Given the description of an element on the screen output the (x, y) to click on. 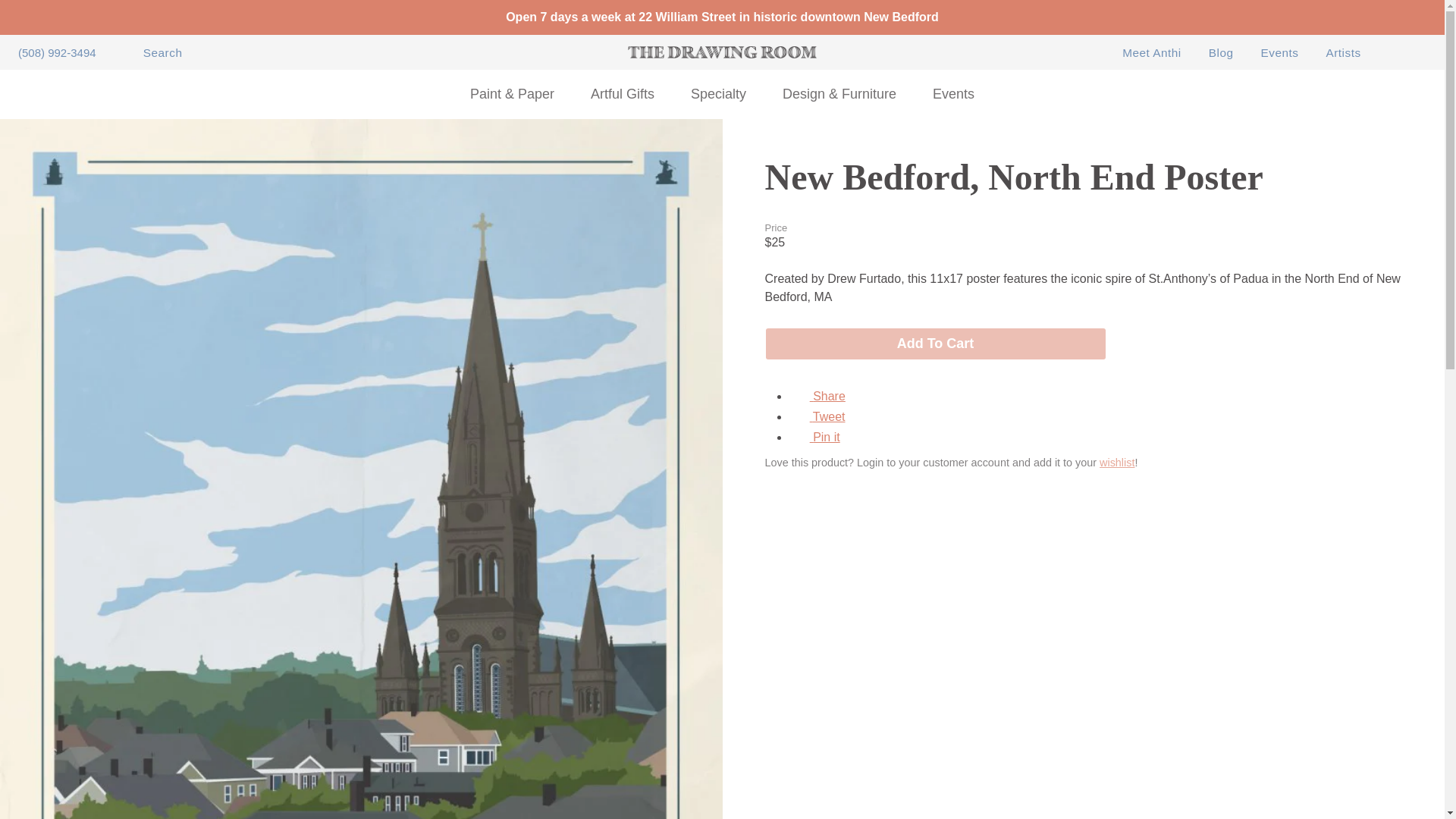
Events (1279, 52)
Blog (1220, 52)
Wishlist (1116, 462)
Artful Gifts (622, 93)
Search (152, 52)
Artists (1341, 52)
Meet Anthi (1151, 52)
